Given the description of an element on the screen output the (x, y) to click on. 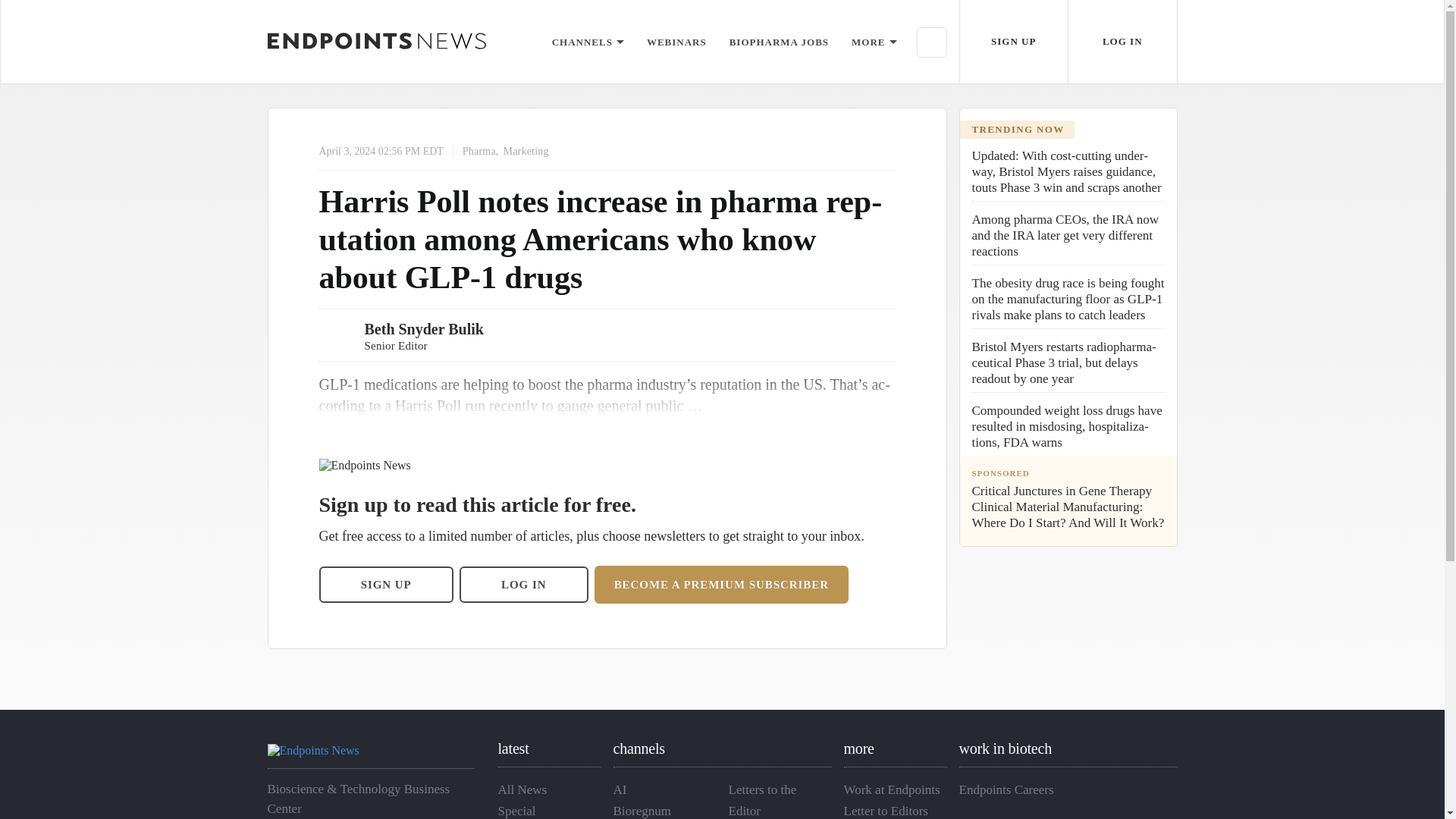
WEBINARS (676, 41)
BIOPHARMA JOBS (778, 41)
